Given the description of an element on the screen output the (x, y) to click on. 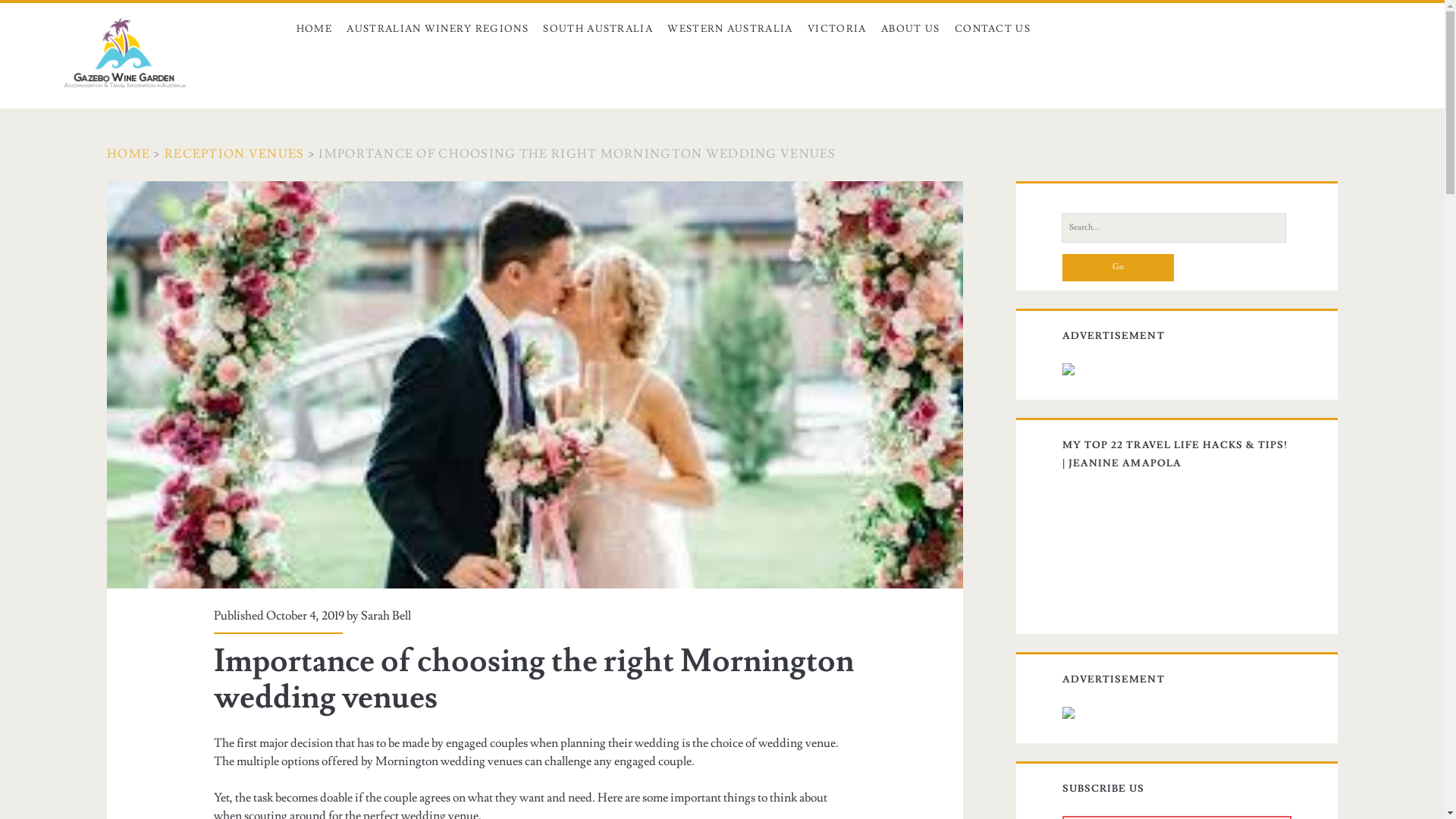
HOME Element type: text (128, 153)
ABOUT US Element type: text (910, 28)
Go Element type: text (1117, 267)
WESTERN AUSTRALIA Element type: text (730, 28)
RECEPTION VENUES Element type: text (234, 153)
SOUTH AUSTRALIA Element type: text (598, 28)
HOME Element type: text (313, 28)
VICTORIA Element type: text (836, 28)
AUSTRALIAN WINERY REGIONS Element type: text (437, 28)
CONTACT US Element type: text (992, 28)
Sarah Bell Element type: text (385, 615)
Search for: Element type: hover (1173, 227)
